Given the description of an element on the screen output the (x, y) to click on. 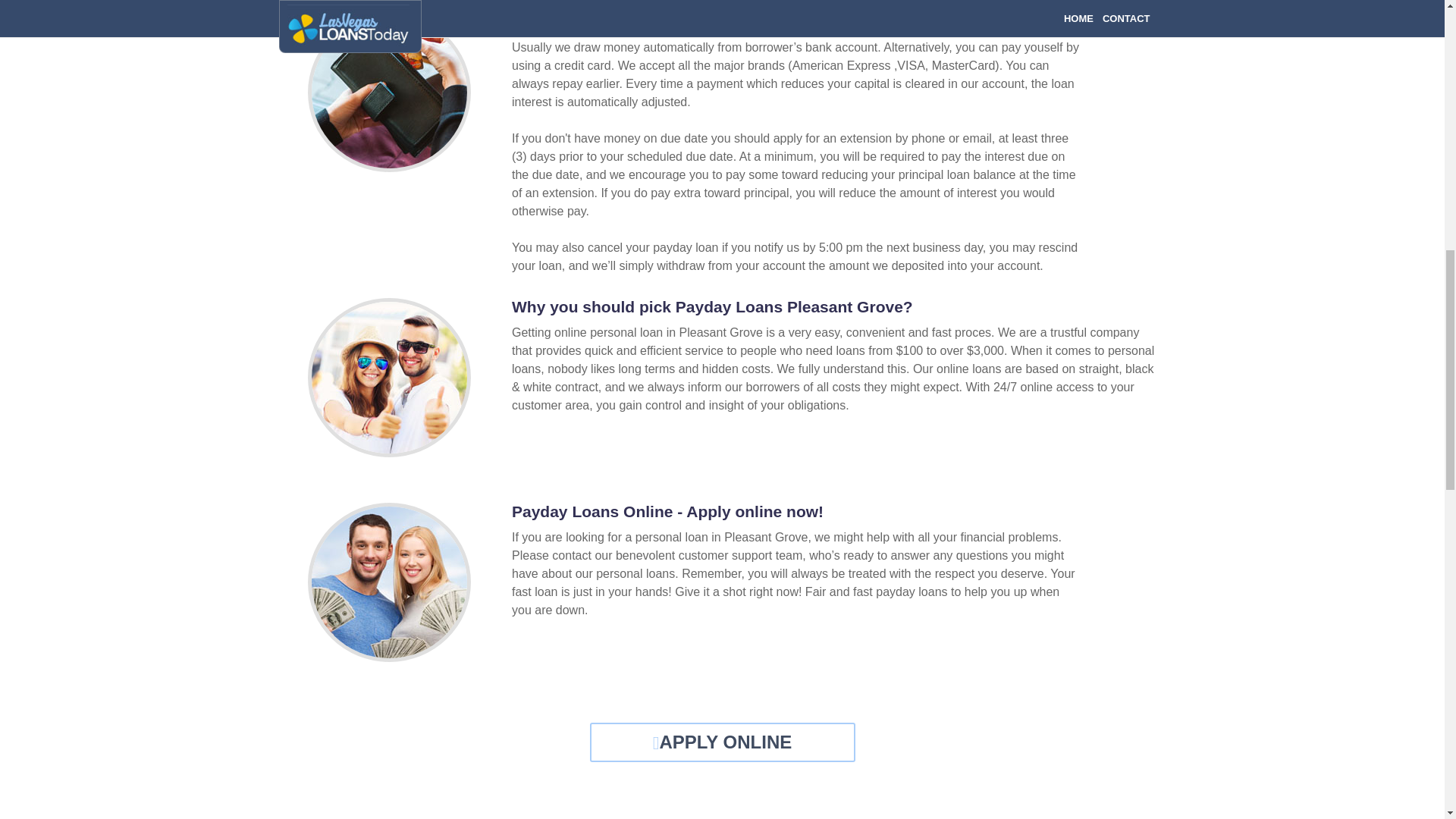
APPLY ONLINE (722, 742)
